Given the description of an element on the screen output the (x, y) to click on. 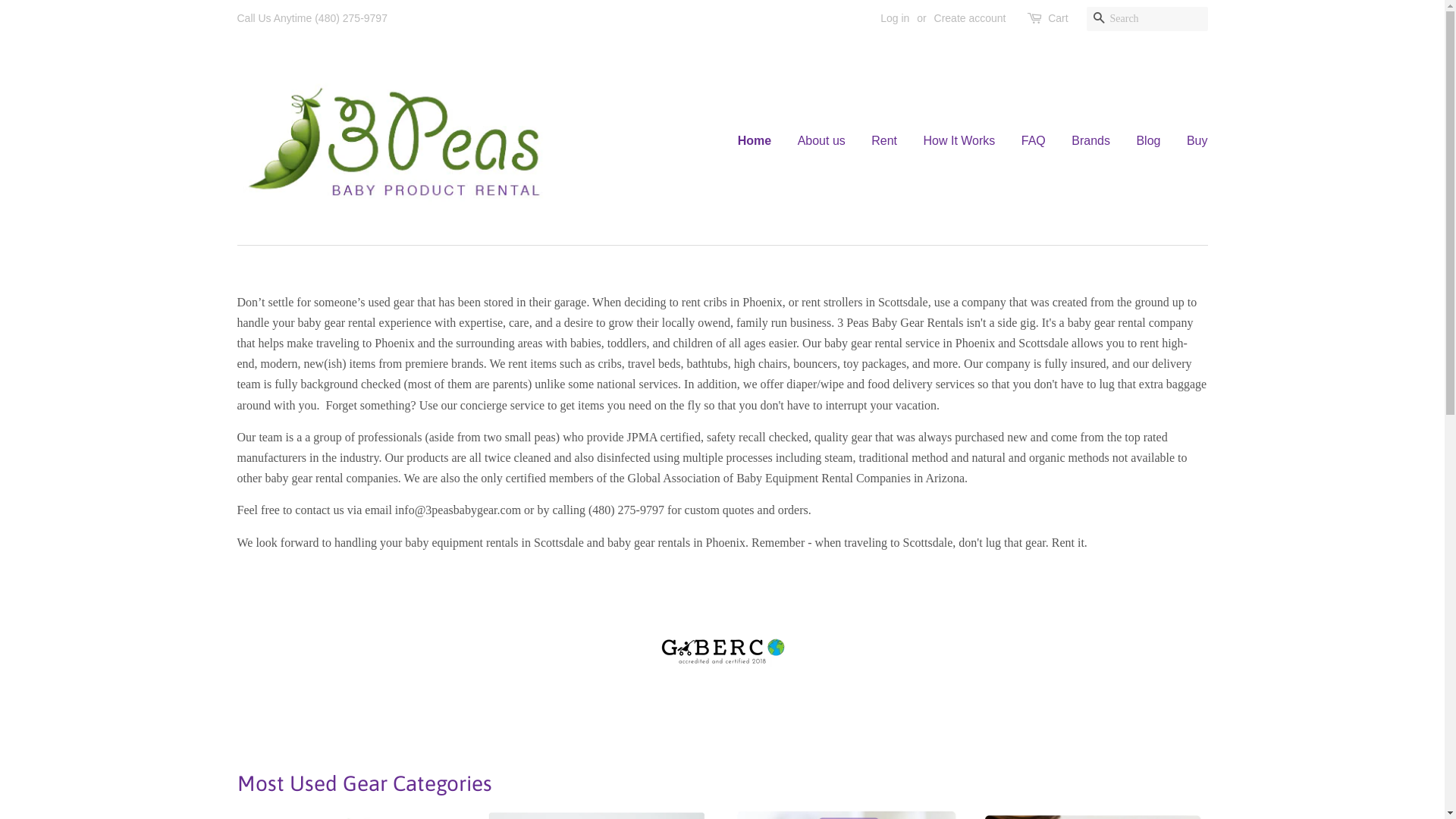
Brands Element type: text (1090, 140)
Rent Element type: text (883, 140)
Search Element type: text (1097, 18)
Log in Element type: text (894, 18)
Blog Element type: text (1147, 140)
Create account Element type: text (970, 18)
Cart Element type: text (1057, 18)
How It Works Element type: text (958, 140)
FAQ Element type: text (1033, 140)
Home Element type: text (759, 140)
About us Element type: text (821, 140)
Buy Element type: text (1191, 140)
